Given the description of an element on the screen output the (x, y) to click on. 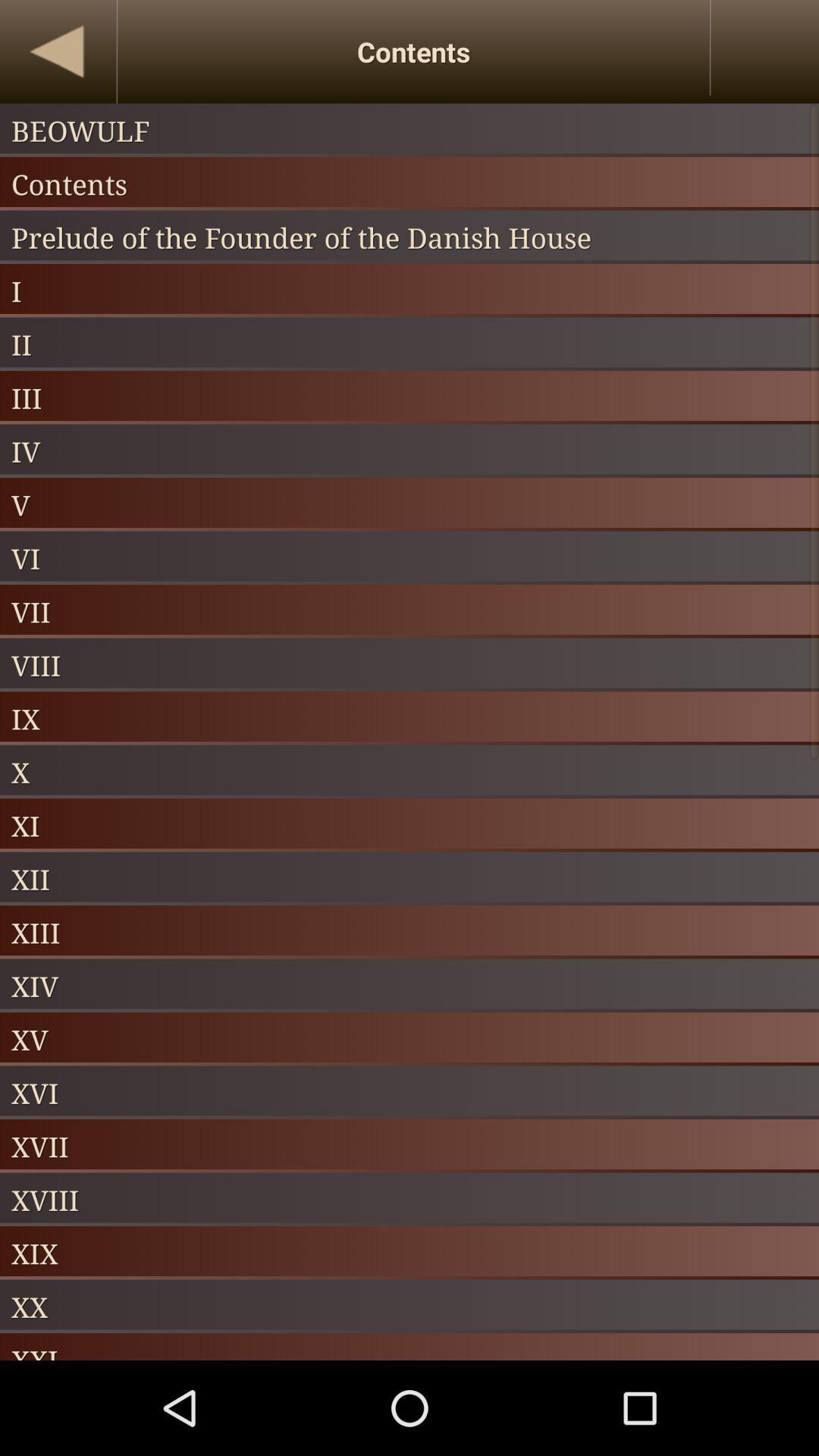
choose beowulf (409, 130)
